Given the description of an element on the screen output the (x, y) to click on. 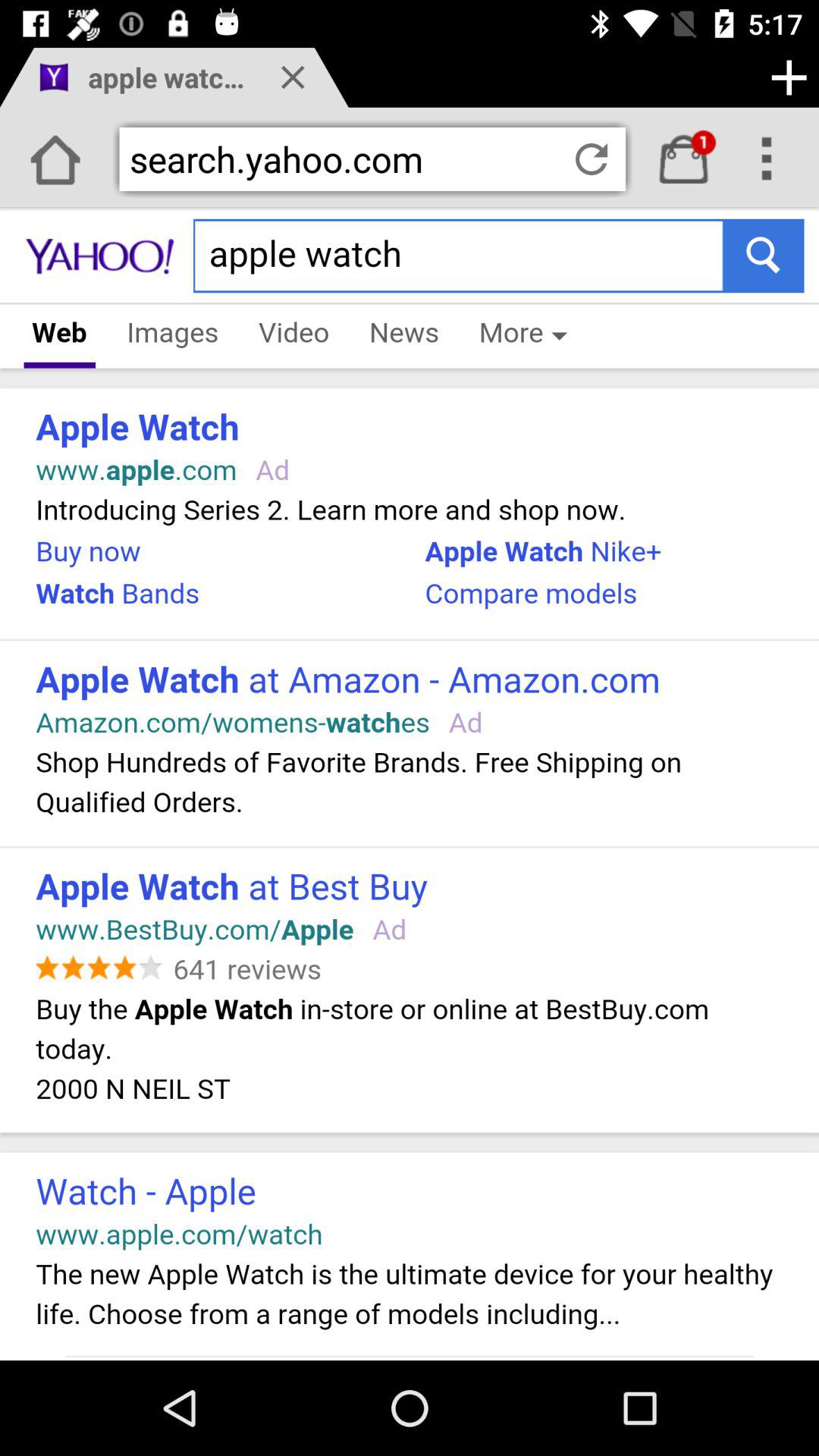
new tab (789, 77)
